Given the description of an element on the screen output the (x, y) to click on. 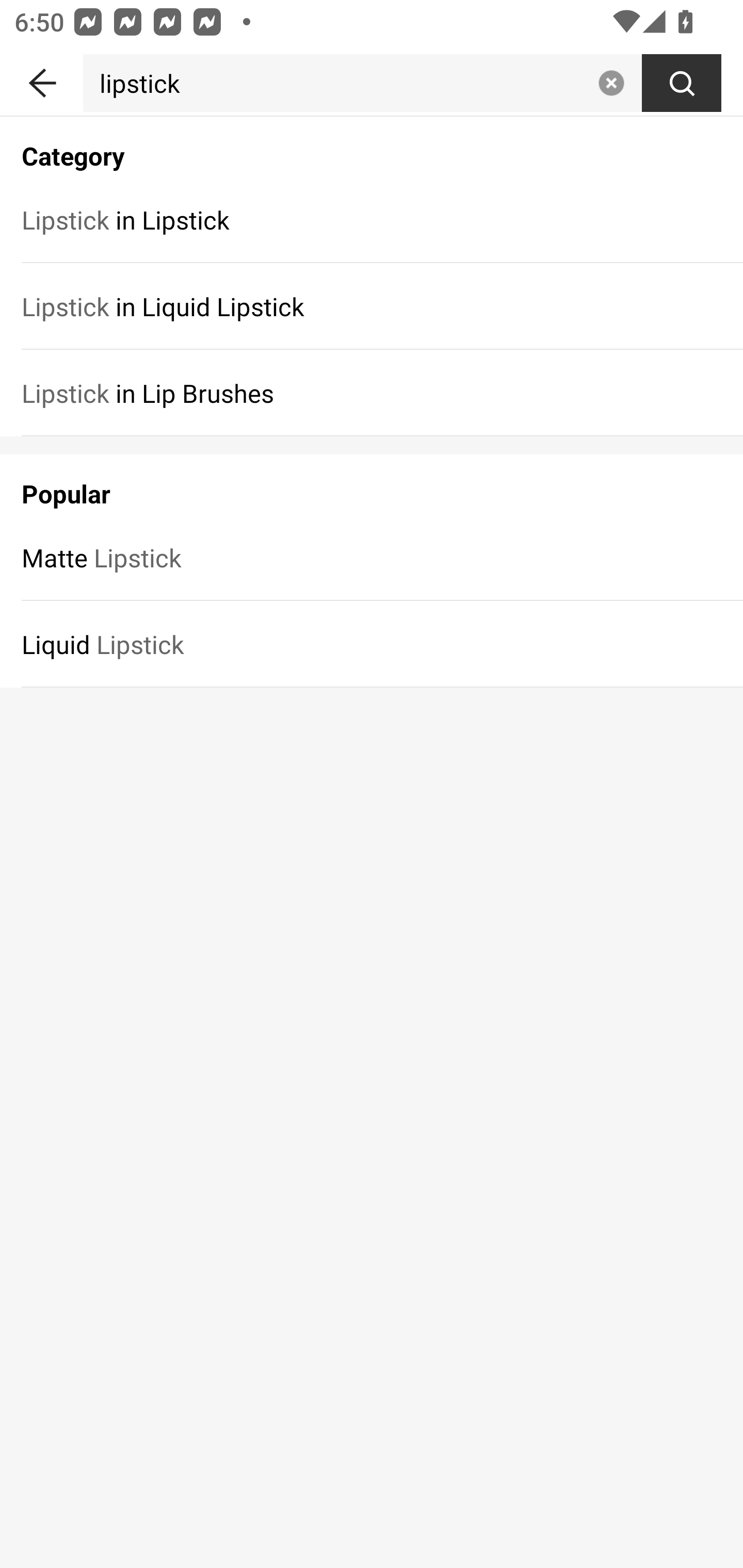
BACK (41, 79)
lipstick (336, 82)
Clear (610, 82)
Category (371, 145)
Lipstick in Lipstick (371, 219)
Lipstick in Liquid Lipstick (371, 306)
Lipstick in Lip Brushes (371, 392)
Popular (371, 484)
Matte Lipstick (371, 557)
Liquid Lipstick (371, 643)
